Given the description of an element on the screen output the (x, y) to click on. 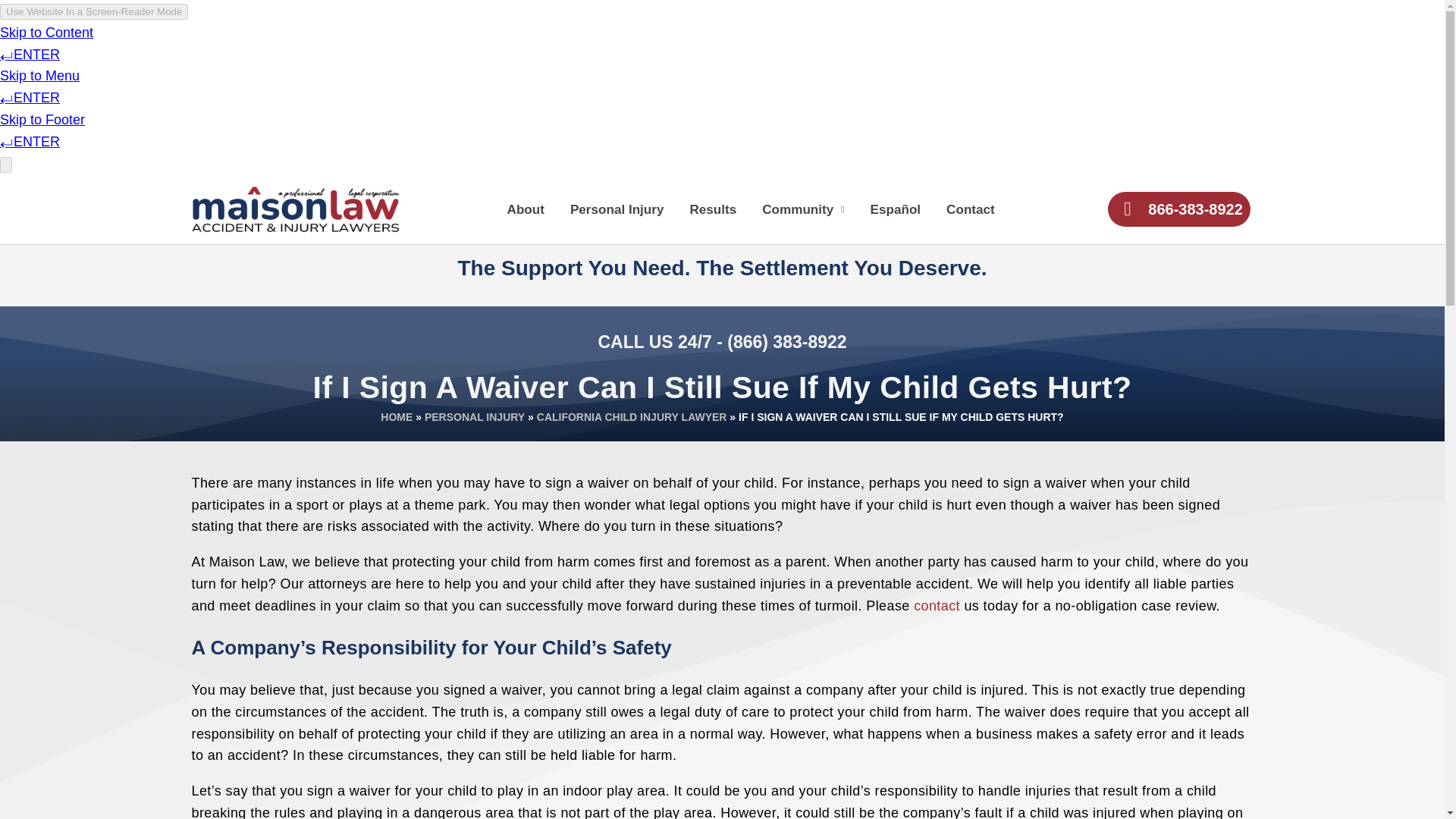
866-383-8922 (1179, 209)
contact (936, 605)
Personal Injury (616, 209)
CALIFORNIA CHILD INJURY LAWYER (631, 417)
HOME (396, 417)
Community (802, 209)
Contact (970, 209)
Results (712, 209)
About (525, 209)
PERSONAL INJURY (474, 417)
